Given the description of an element on the screen output the (x, y) to click on. 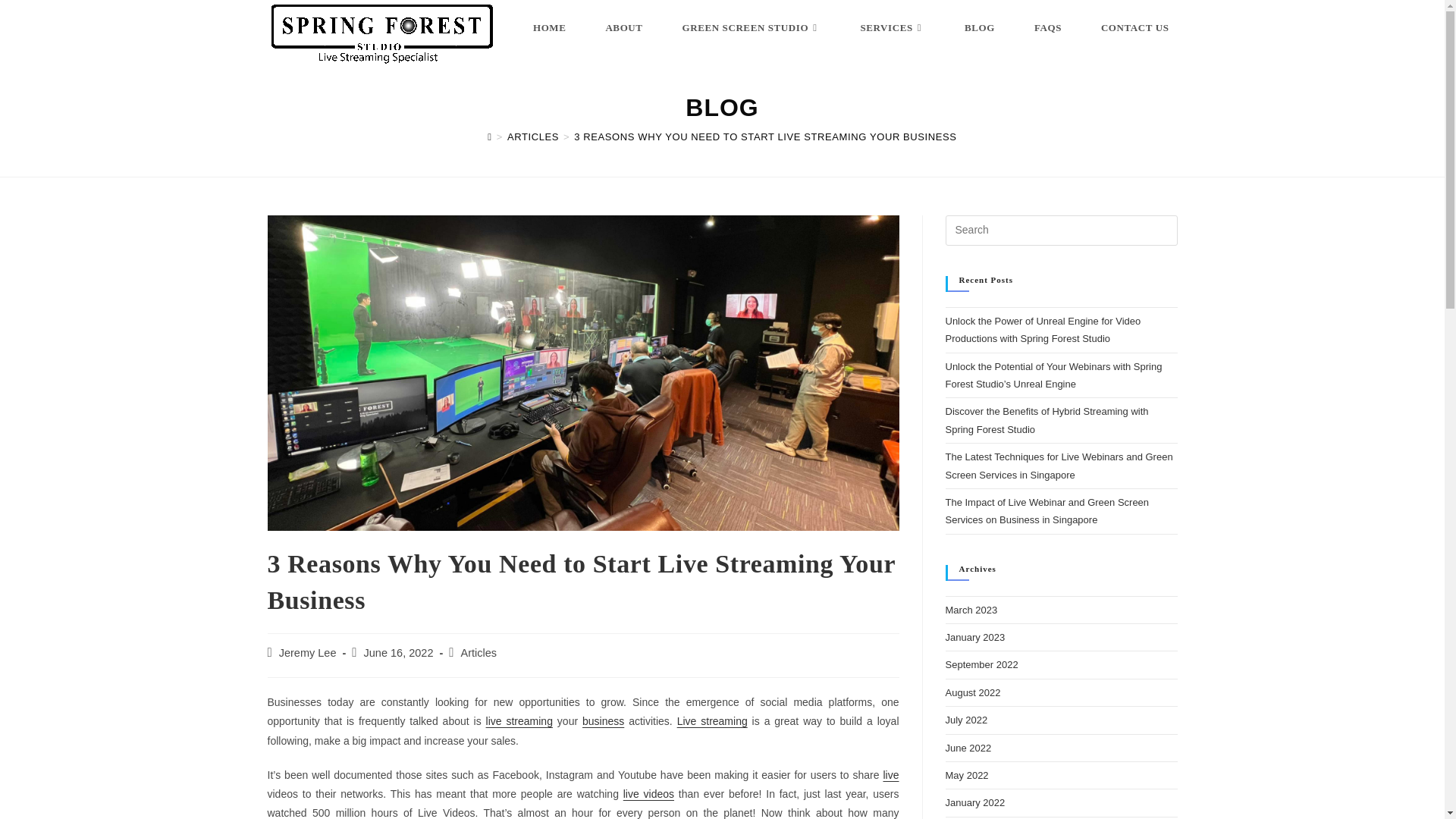
live videos (648, 793)
live streaming (519, 720)
Articles (479, 653)
FAQS (1047, 28)
SERVICES (892, 28)
GREEN SCREEN STUDIO (751, 28)
Jeremy Lee (307, 653)
HOME (549, 28)
ARTICLES (532, 136)
Live streaming (712, 720)
